Given the description of an element on the screen output the (x, y) to click on. 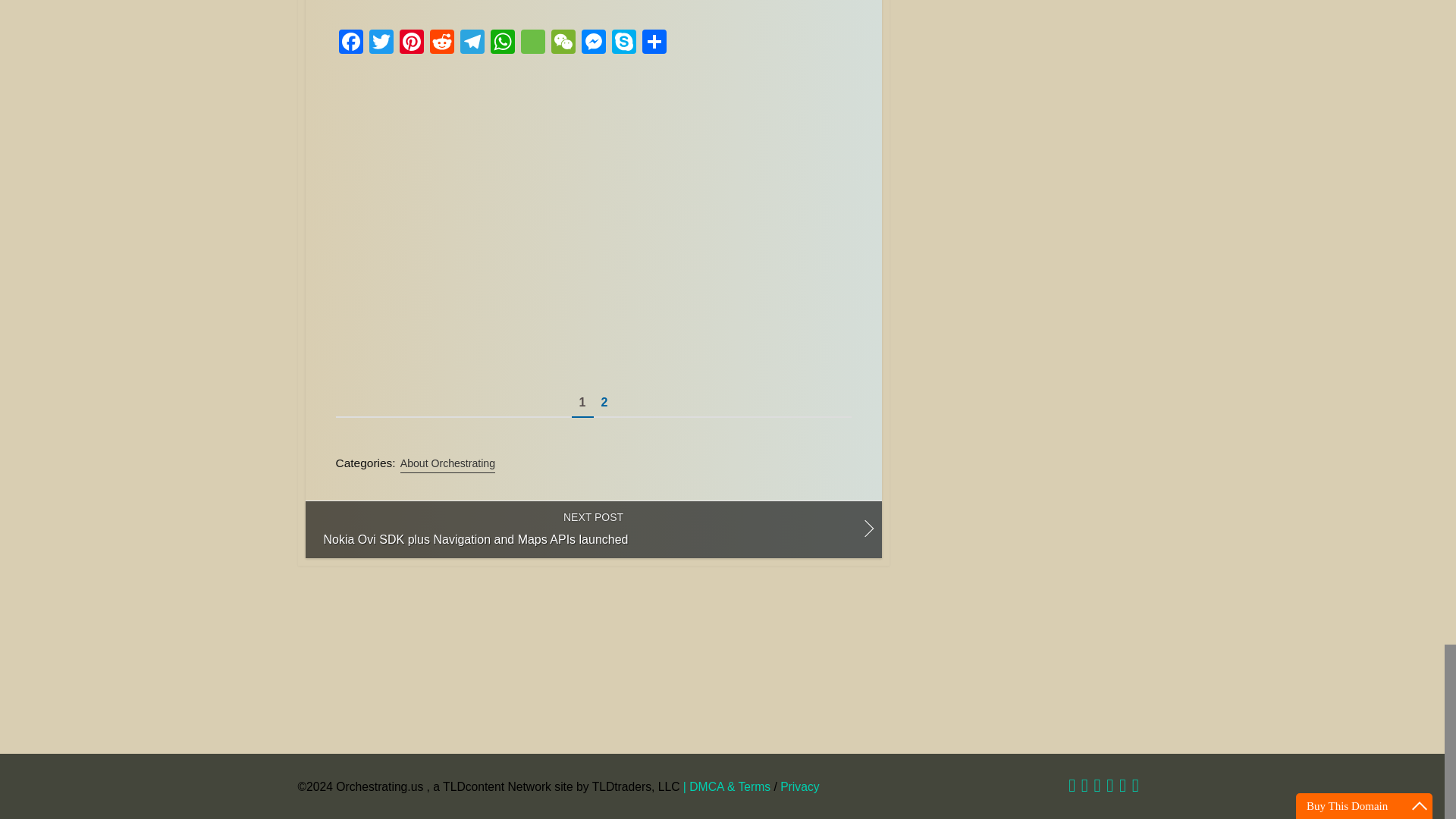
WhatsApp (501, 43)
Skype (623, 43)
Message (531, 43)
About Orchestrating (447, 463)
Twitter (380, 43)
Facebook (349, 43)
Telegram (471, 43)
Reddit (441, 43)
Twitter (380, 43)
Facebook (349, 43)
Messenger (593, 43)
Pinterest (411, 43)
Reddit (441, 43)
WeChat (562, 43)
Telegram (471, 43)
